Given the description of an element on the screen output the (x, y) to click on. 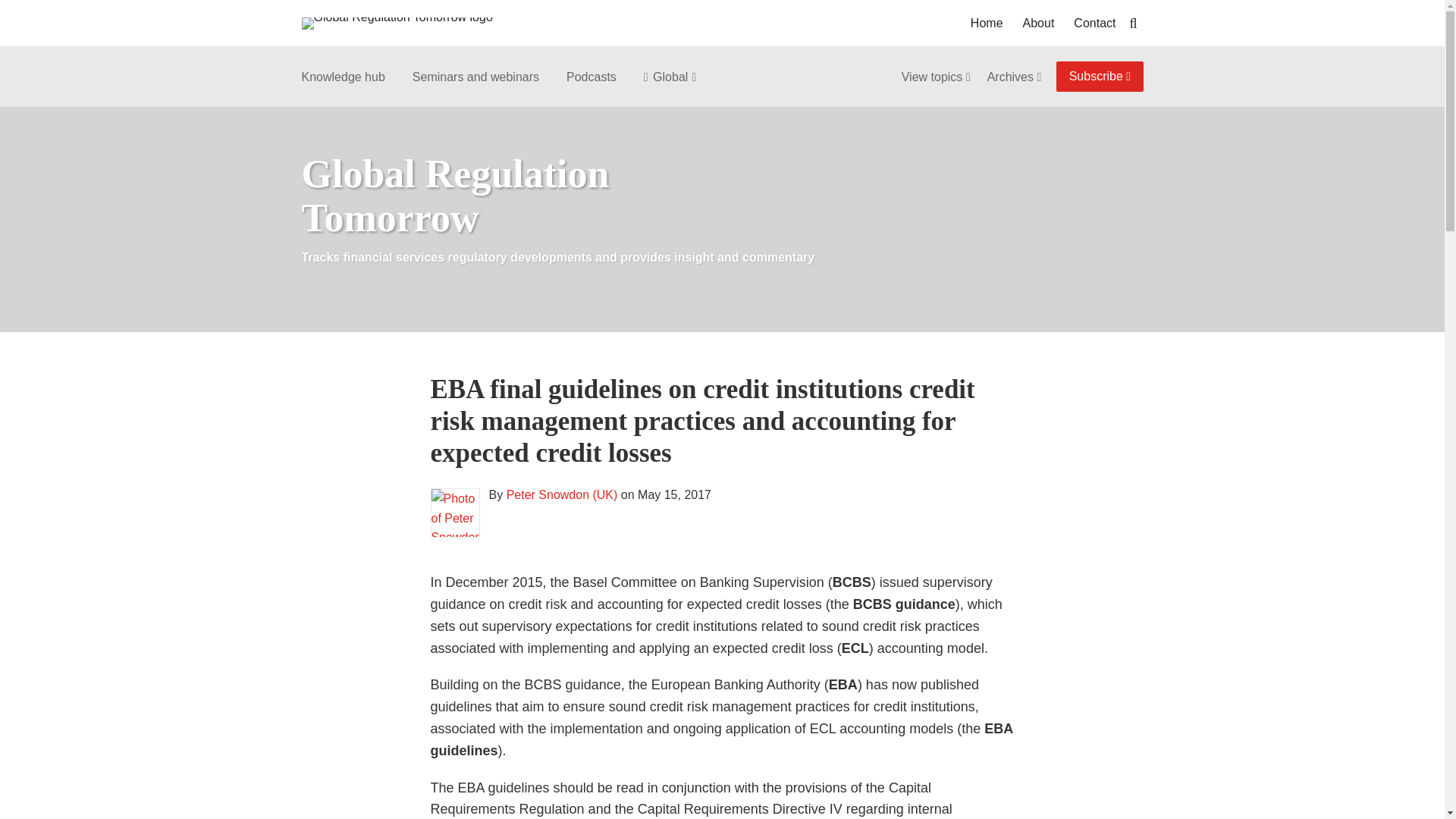
Subscribe (1099, 76)
Global Regulation Tomorrow (455, 195)
Archives (1015, 76)
Podcasts (590, 76)
Knowledge hub (343, 76)
Home (987, 23)
Seminars and webinars (475, 76)
View topics (936, 76)
Global (665, 76)
About (1038, 23)
Contact (1094, 23)
